Given the description of an element on the screen output the (x, y) to click on. 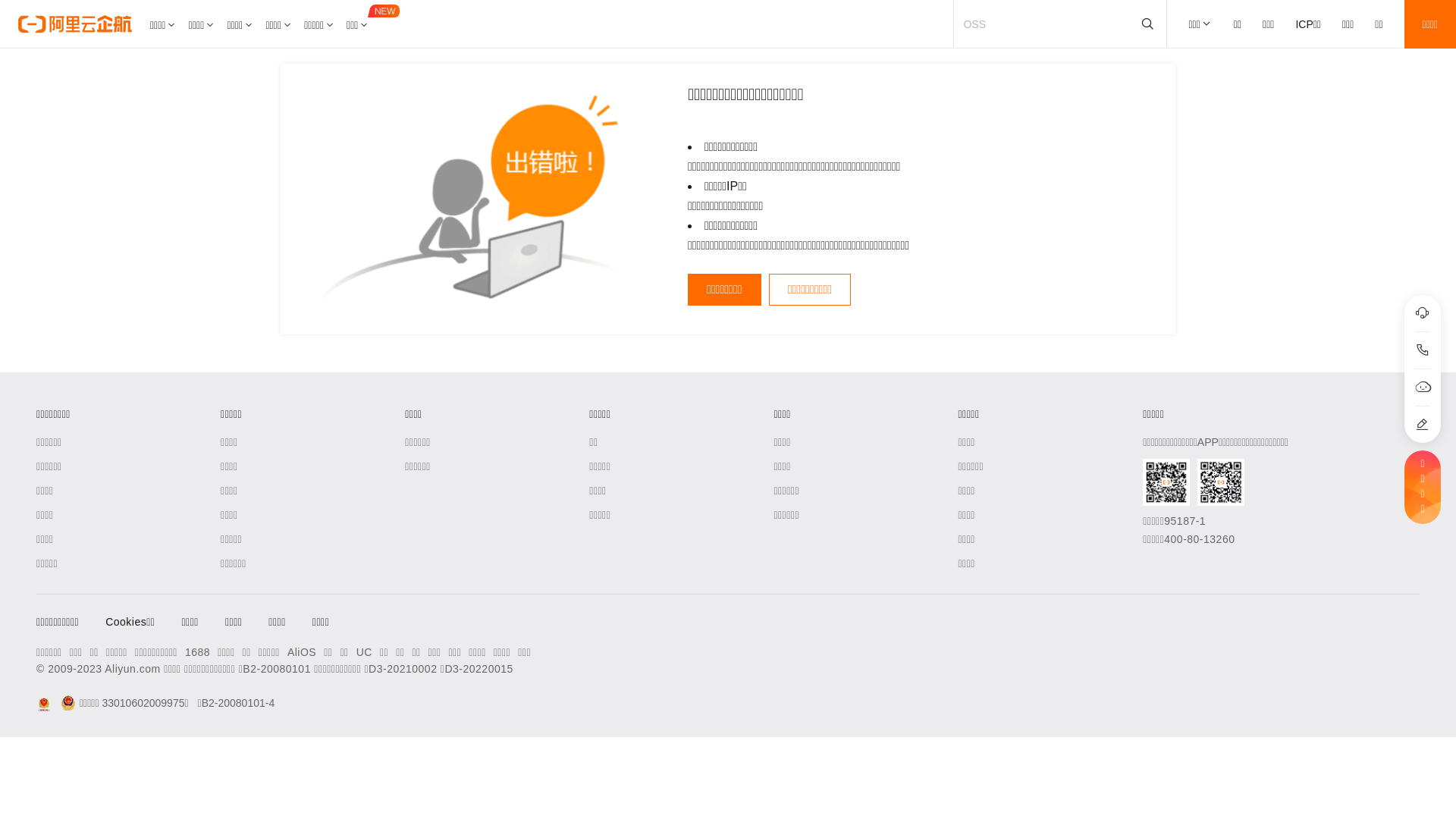
AliOS Element type: text (301, 652)
UC Element type: text (364, 652)
1688 Element type: text (197, 652)
